Given the description of an element on the screen output the (x, y) to click on. 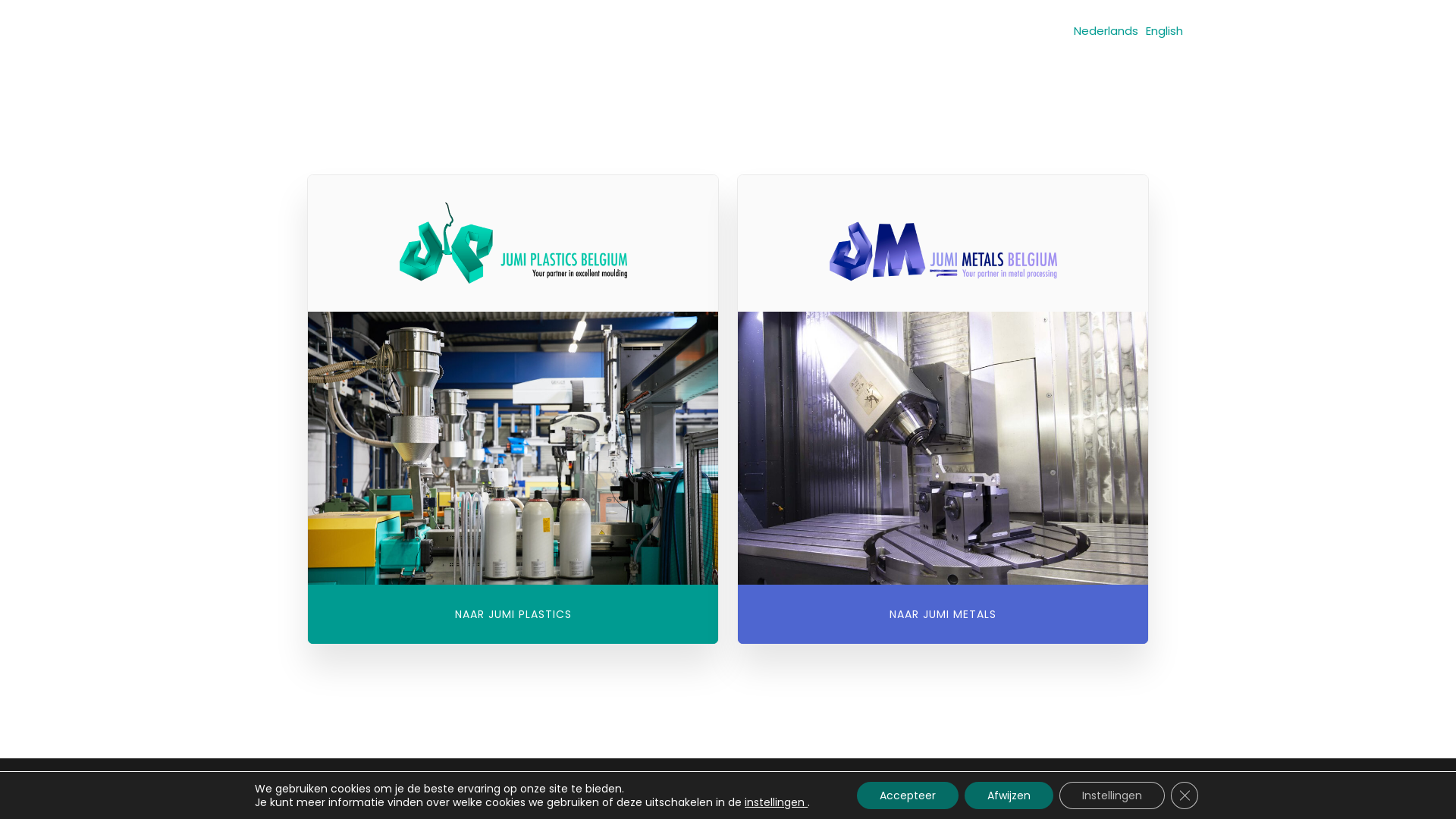
NAAR JUMI PLASTICS Element type: text (512, 613)
Afwijzen Element type: text (1008, 795)
Instellingen Element type: text (1111, 795)
Accepteer Element type: text (907, 795)
SLUIT GDPR (AVG) COOKIE BANNER Element type: text (1184, 795)
Nederlands Element type: text (1105, 29)
NAAR JUMI METALS Element type: text (942, 613)
Datalink Element type: text (830, 788)
English Element type: text (1164, 29)
